Given the description of an element on the screen output the (x, y) to click on. 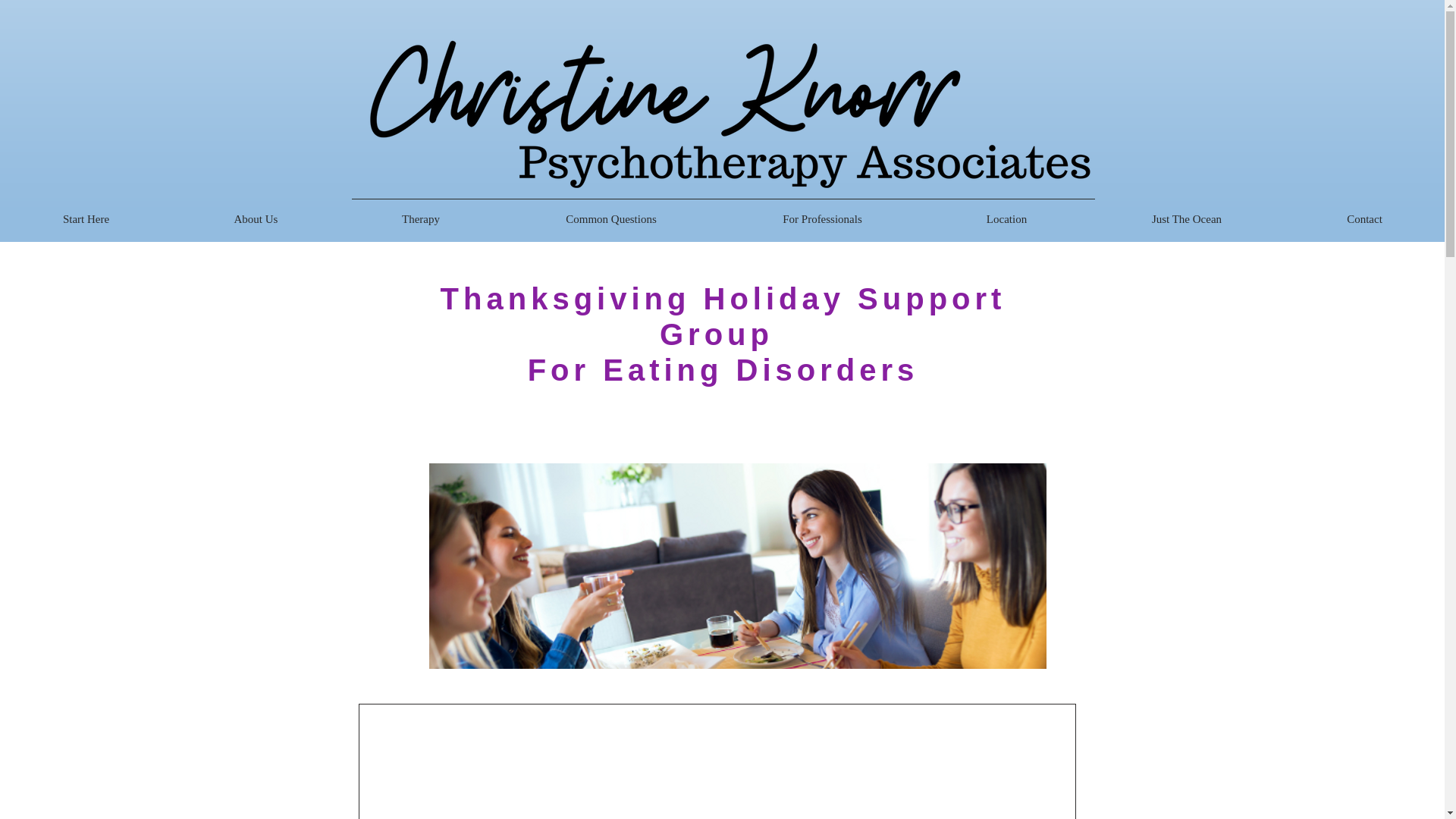
About Us (255, 218)
For Professionals (822, 218)
Just The Ocean (1186, 218)
Therapy (420, 218)
Common Questions (611, 218)
Start Here (85, 218)
Location (1006, 218)
